Given the description of an element on the screen output the (x, y) to click on. 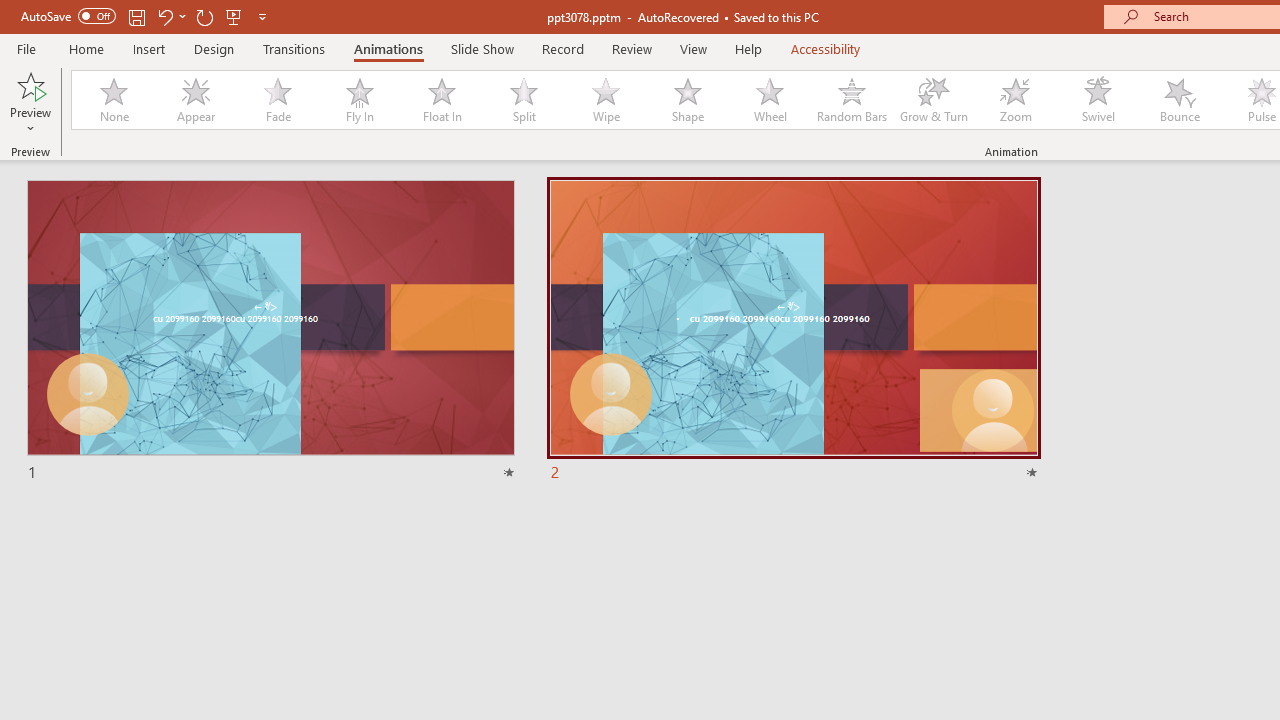
Grow & Turn (934, 100)
Bounce (1180, 100)
Wipe (605, 100)
Float In (441, 100)
Shape (687, 100)
None (113, 100)
